Given the description of an element on the screen output the (x, y) to click on. 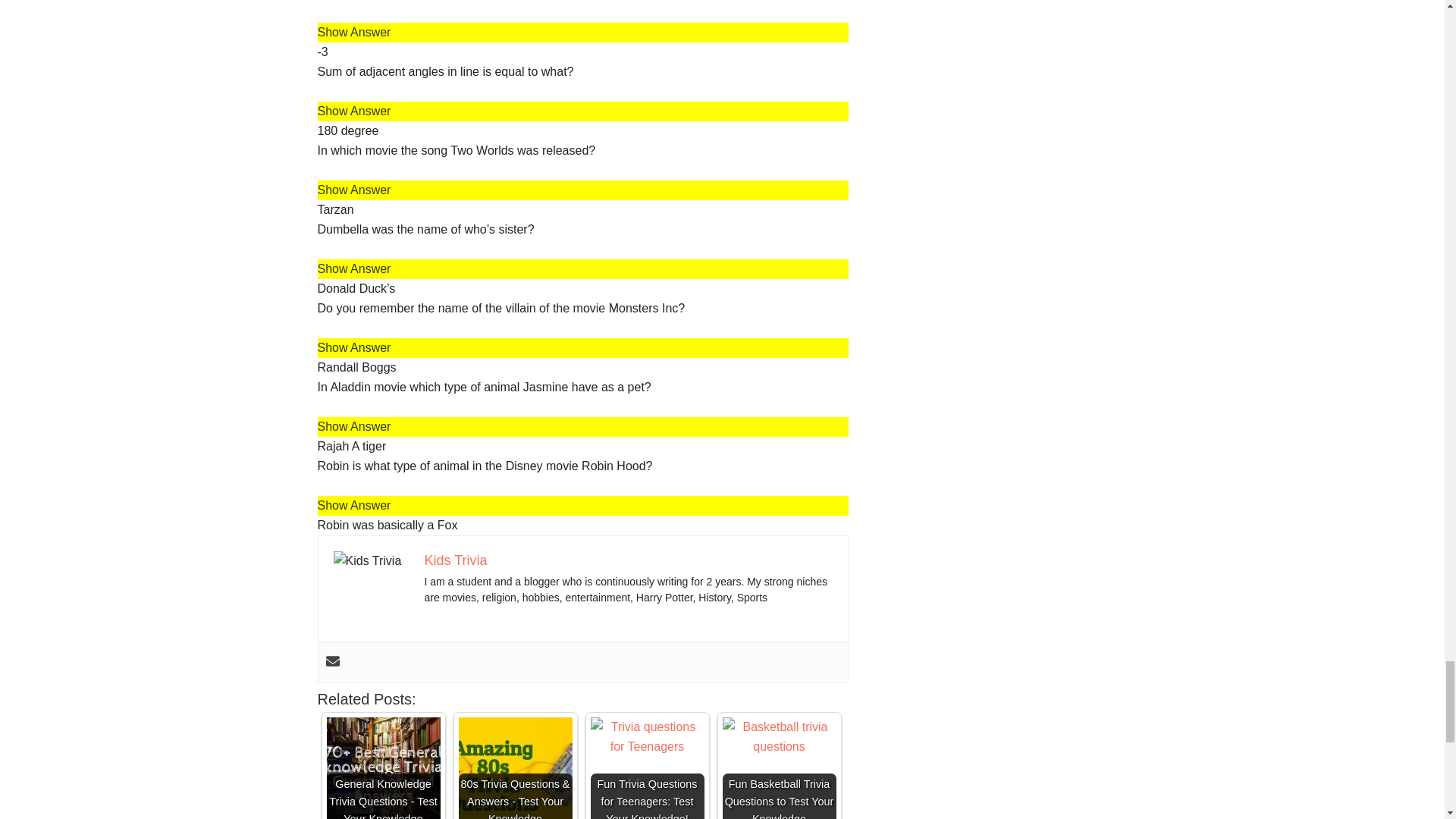
Fun Basketball Trivia Questions to Test Your Knowledge (778, 736)
General Knowledge Trivia Questions - Test Your Knowledge (382, 768)
Fun Trivia Questions for Teenagers: Test Your Knowledge! (646, 736)
